Given the description of an element on the screen output the (x, y) to click on. 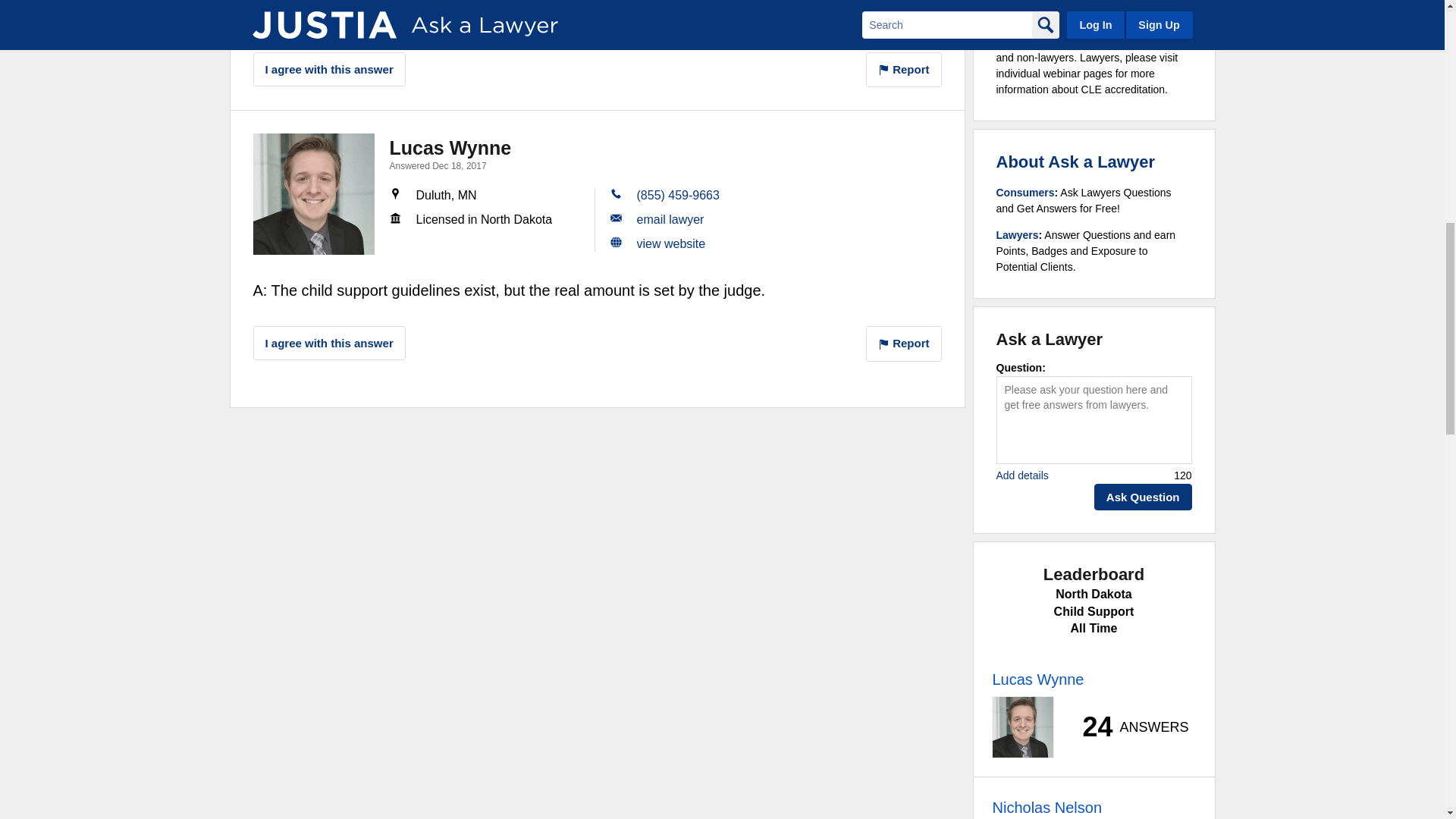
Ask a Lawyer - Leaderboard - Lawyer Name (1046, 807)
Ask a Lawyer - Leaderboard - Lawyer Name (1037, 679)
Ask a Lawyer - FAQs - Consumers (1024, 192)
Report (904, 69)
Ask a Lawyer - Leaderboard - Lawyer Stats (1127, 727)
Ask a Lawyer - FAQs - Lawyers (1017, 234)
Ask a Lawyer - Leaderboard - Lawyer Photo (1021, 726)
Lucas Wynne (313, 193)
I agree with this answer (329, 69)
